Given the description of an element on the screen output the (x, y) to click on. 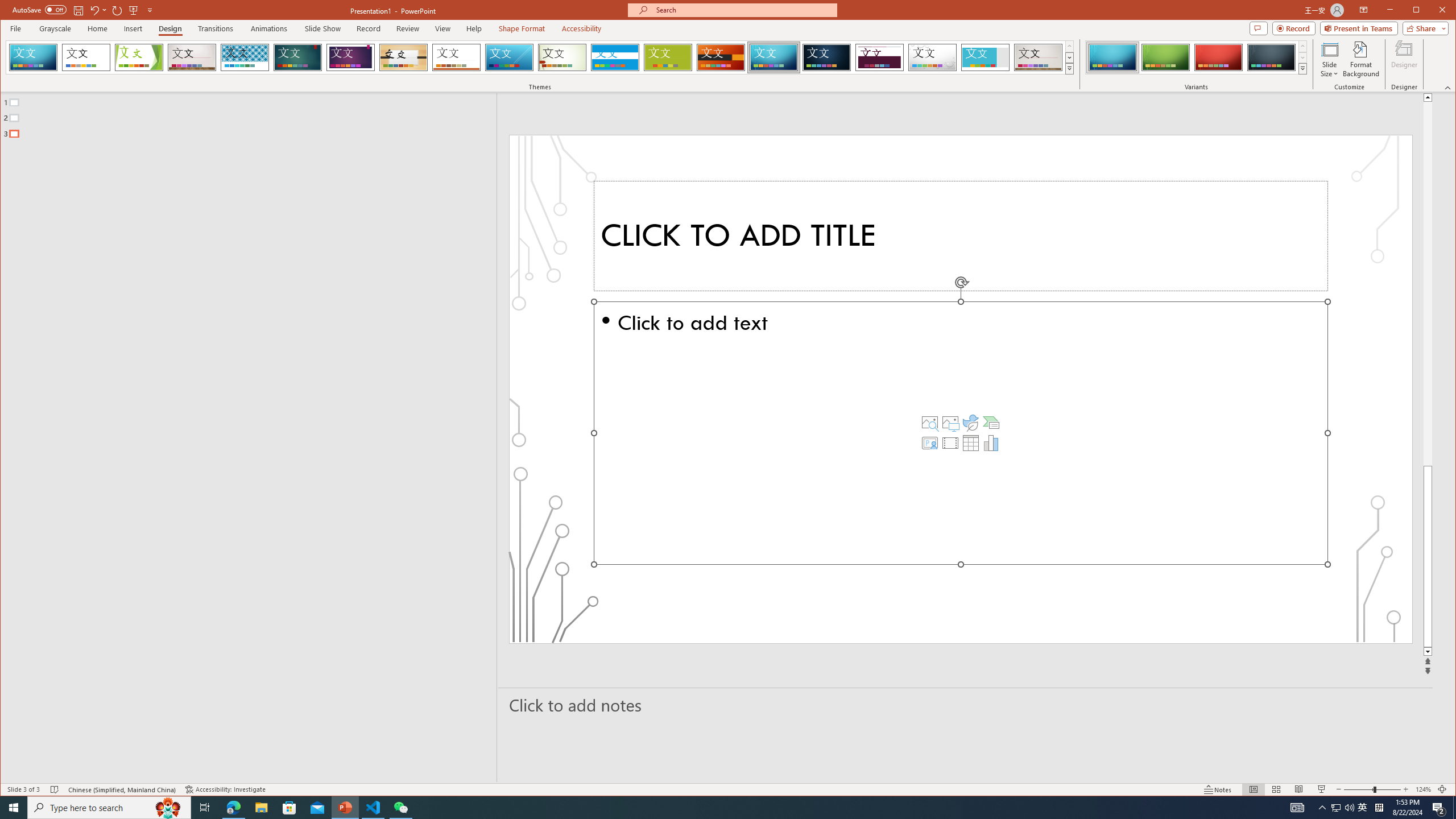
Outline (252, 115)
WeChat - 1 running window (400, 807)
Grayscale (55, 28)
